Given the description of an element on the screen output the (x, y) to click on. 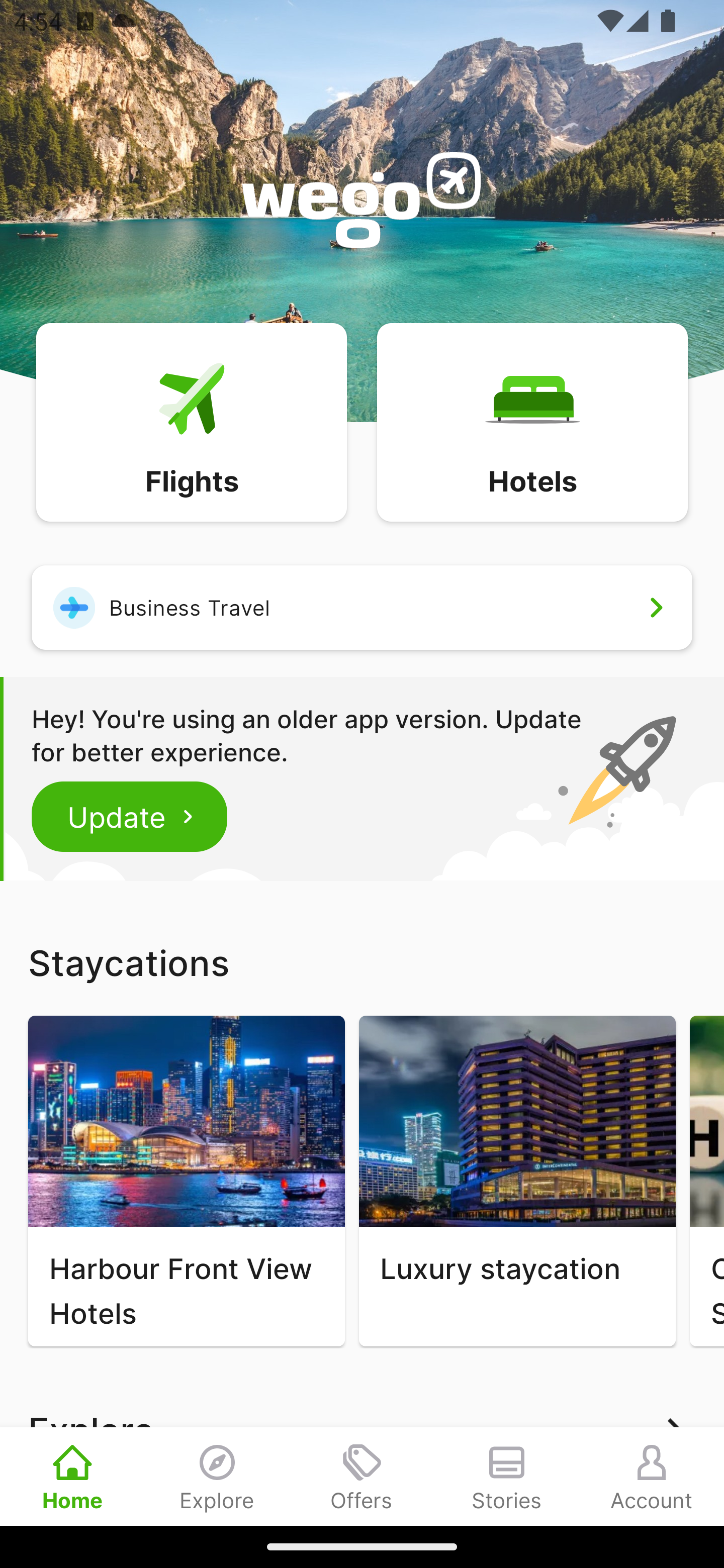
Flights (191, 420)
Hotels (532, 420)
Business Travel (361, 607)
Update (129, 815)
Staycations (362, 962)
Harbour Front View Hotels (186, 1181)
Luxury staycation (517, 1181)
Explore (216, 1475)
Offers (361, 1475)
Stories (506, 1475)
Account (651, 1475)
